Given the description of an element on the screen output the (x, y) to click on. 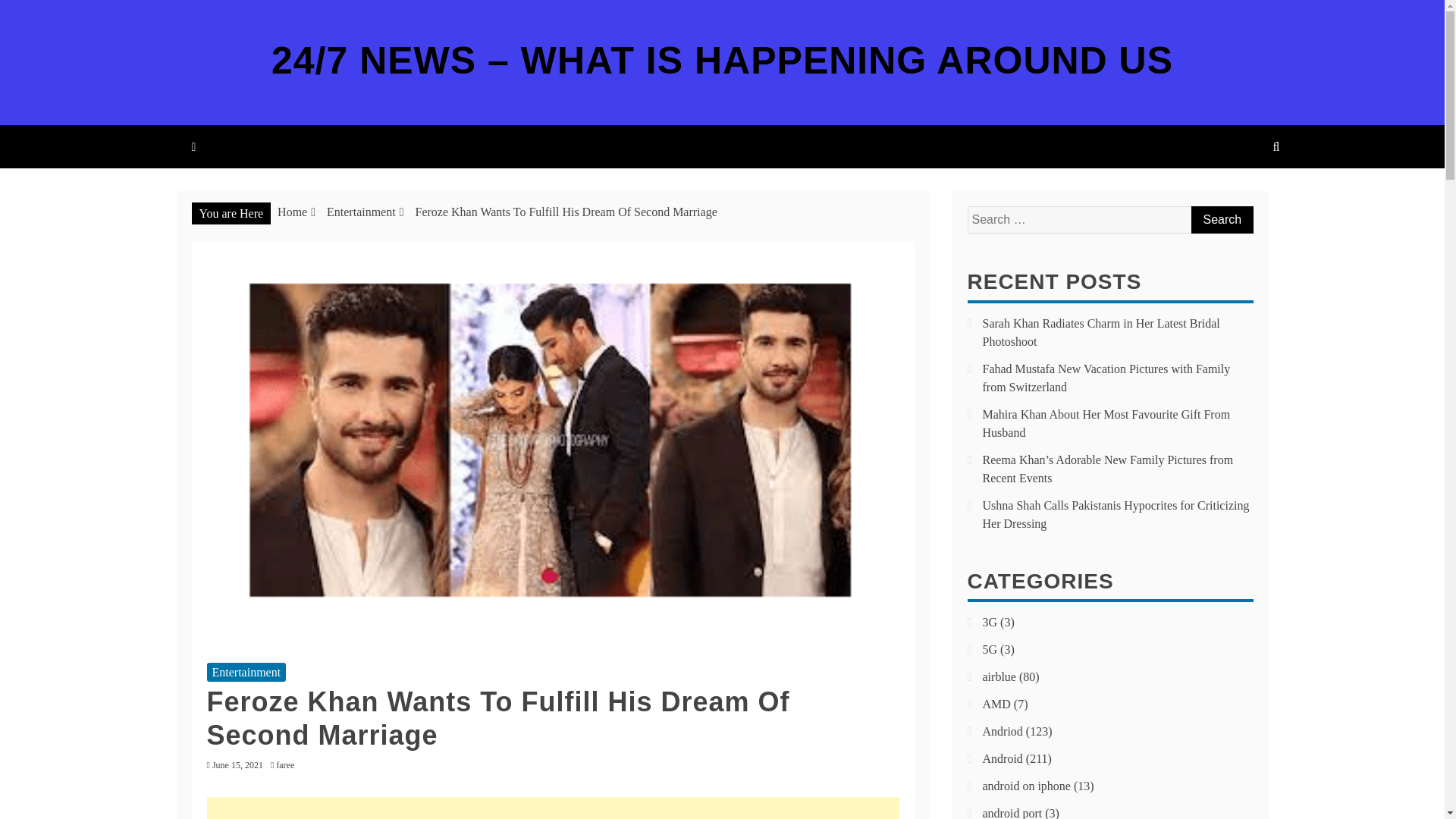
faree (288, 765)
Home (292, 211)
June 15, 2021 (237, 765)
Search (1221, 219)
Entertainment (245, 671)
Search (1221, 219)
Search (1221, 219)
Sarah Khan Radiates Charm in Her Latest Bridal Photoshoot (1101, 332)
Entertainment (361, 211)
